Given the description of an element on the screen output the (x, y) to click on. 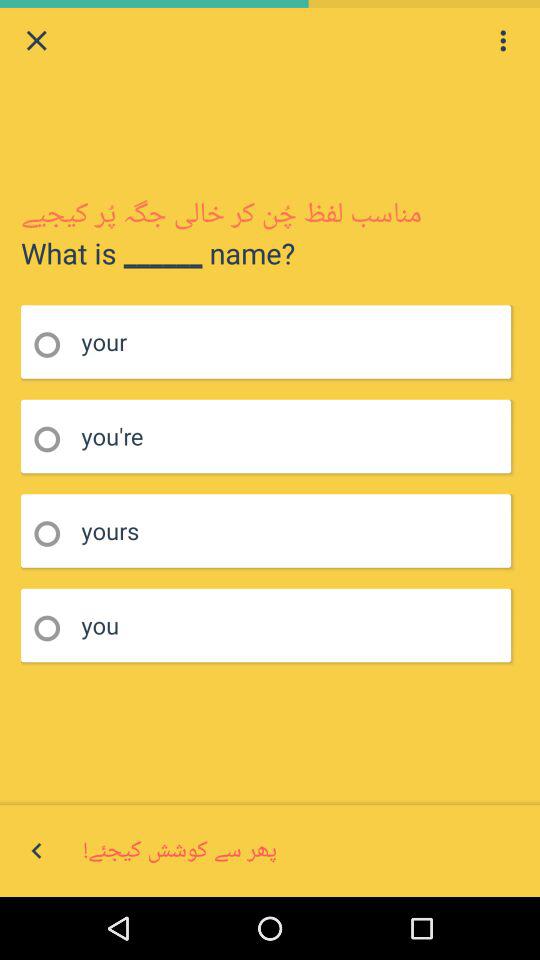
quit page (36, 40)
